Given the description of an element on the screen output the (x, y) to click on. 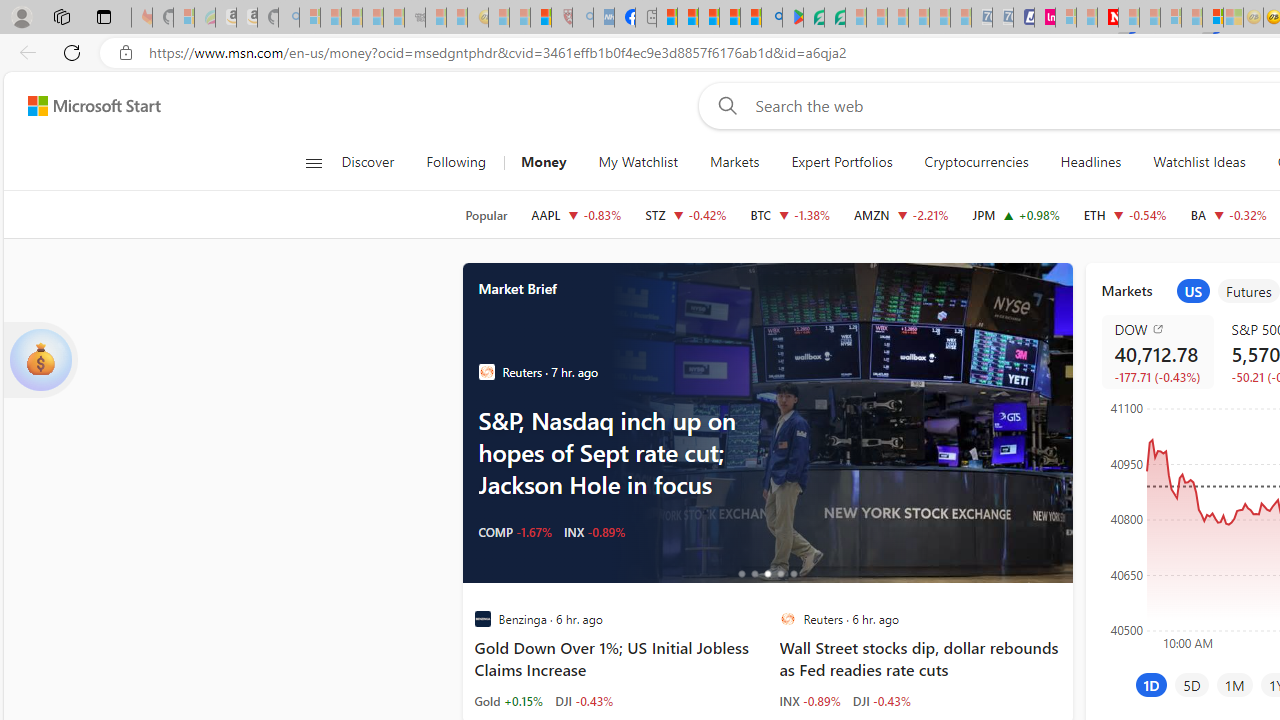
Popular (486, 215)
item2 (1249, 291)
Benzinga (482, 619)
1D (1151, 684)
BTC Bitcoin decrease 60,534.75 -837.20 -1.38% (790, 214)
5D (1192, 684)
Terms of Use Agreement (813, 17)
show card (40, 359)
